Given the description of an element on the screen output the (x, y) to click on. 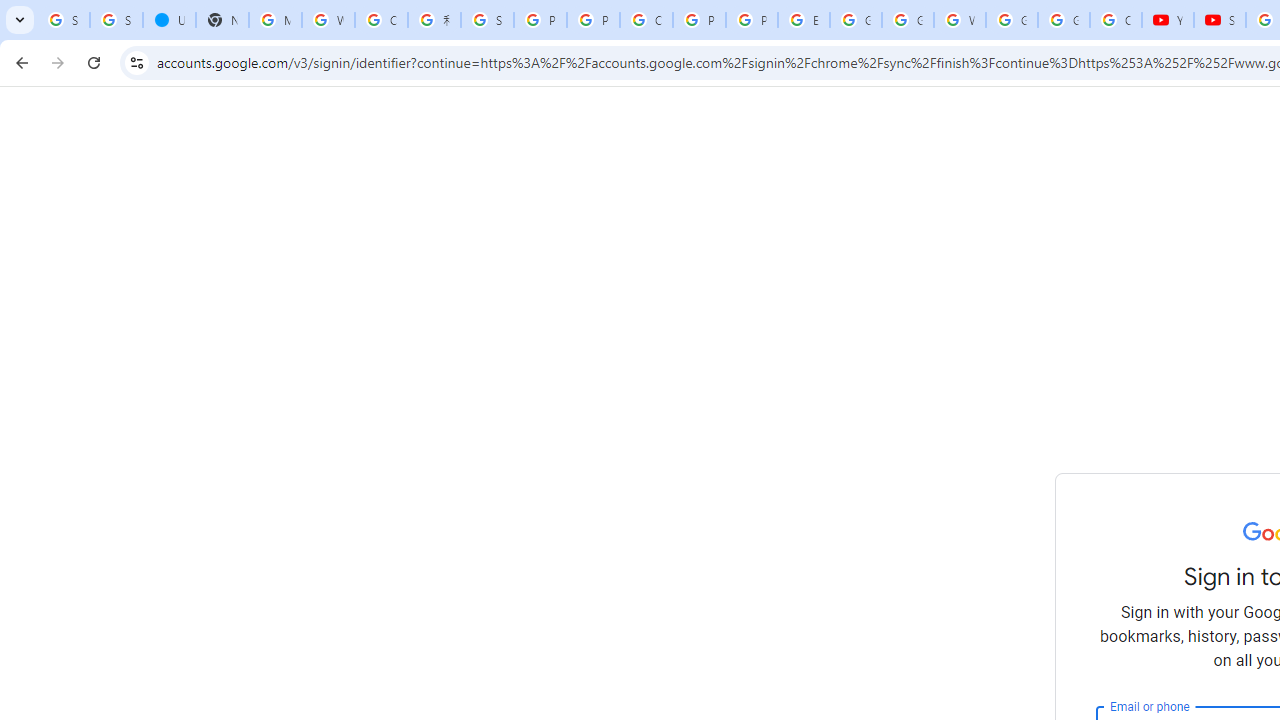
Sign in - Google Accounts (63, 20)
Create your Google Account (381, 20)
New Tab (222, 20)
Subscriptions - YouTube (1219, 20)
YouTube (1167, 20)
Edit and view right-to-left text - Google Docs Editors Help (803, 20)
Who is my administrator? - Google Account Help (328, 20)
Create your Google Account (646, 20)
Google Account (1064, 20)
Sign in - Google Accounts (116, 20)
